Given the description of an element on the screen output the (x, y) to click on. 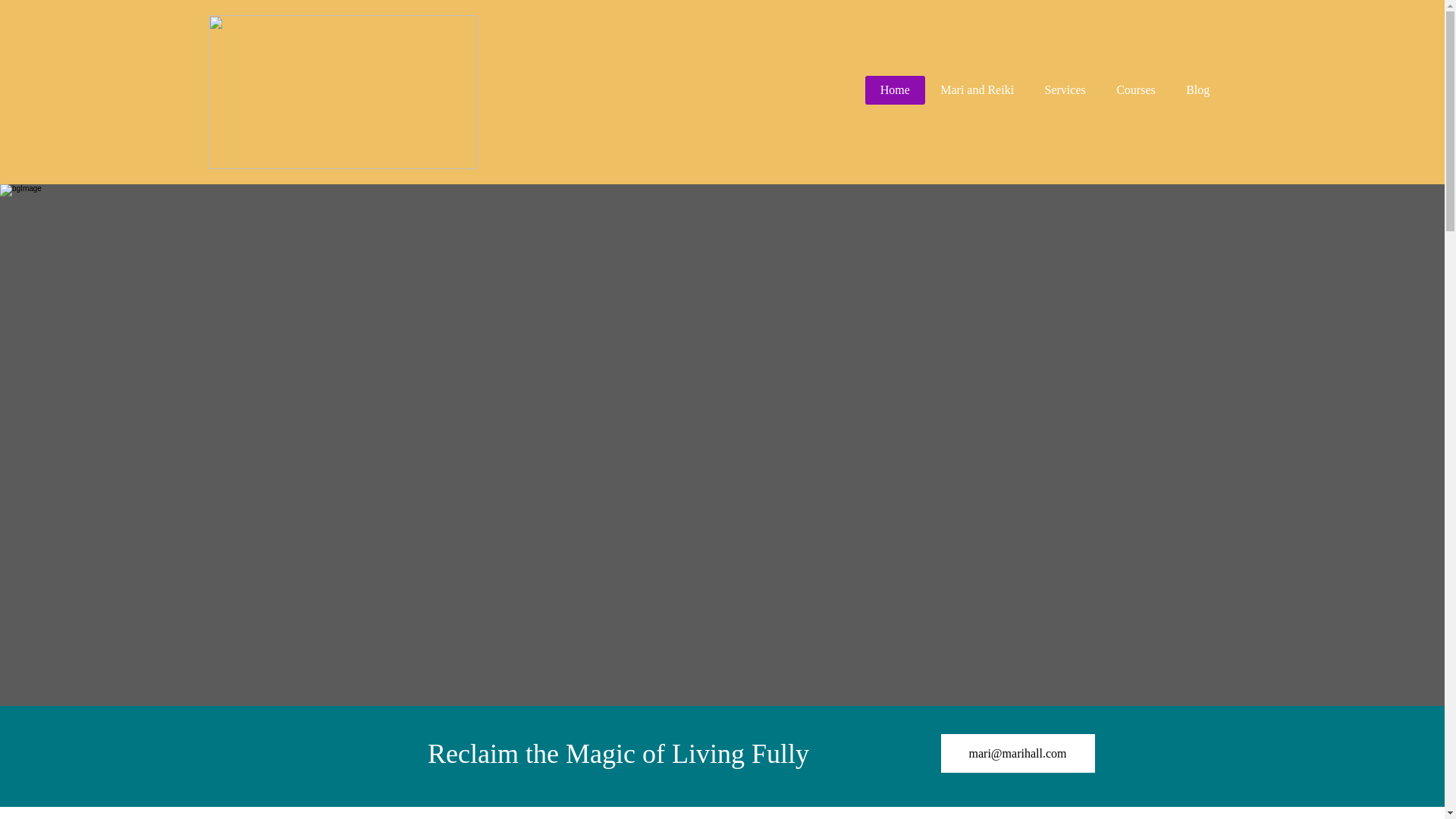
Courses (1135, 90)
Services (1064, 90)
Mari and Reiki (976, 90)
Home (894, 90)
Blog (1197, 90)
